Given the description of an element on the screen output the (x, y) to click on. 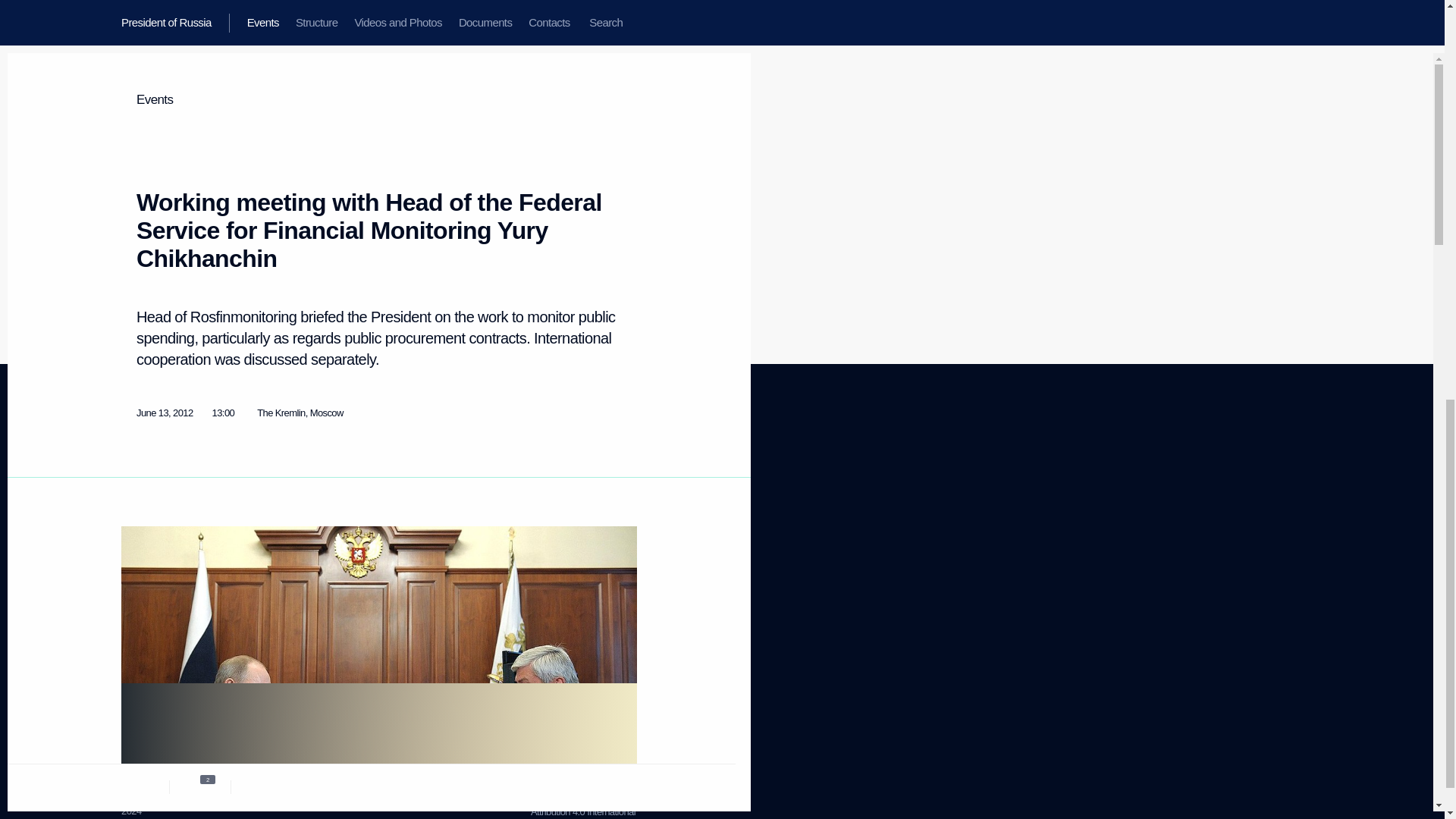
Contact website team (573, 550)
Videos and Photos (158, 518)
Events (134, 480)
Directory (138, 665)
Send a Letter (284, 550)
Structure (138, 500)
About website (558, 480)
For the Media (148, 611)
Contacts (138, 556)
Yury Chikhanchin (464, 404)
